Given the description of an element on the screen output the (x, y) to click on. 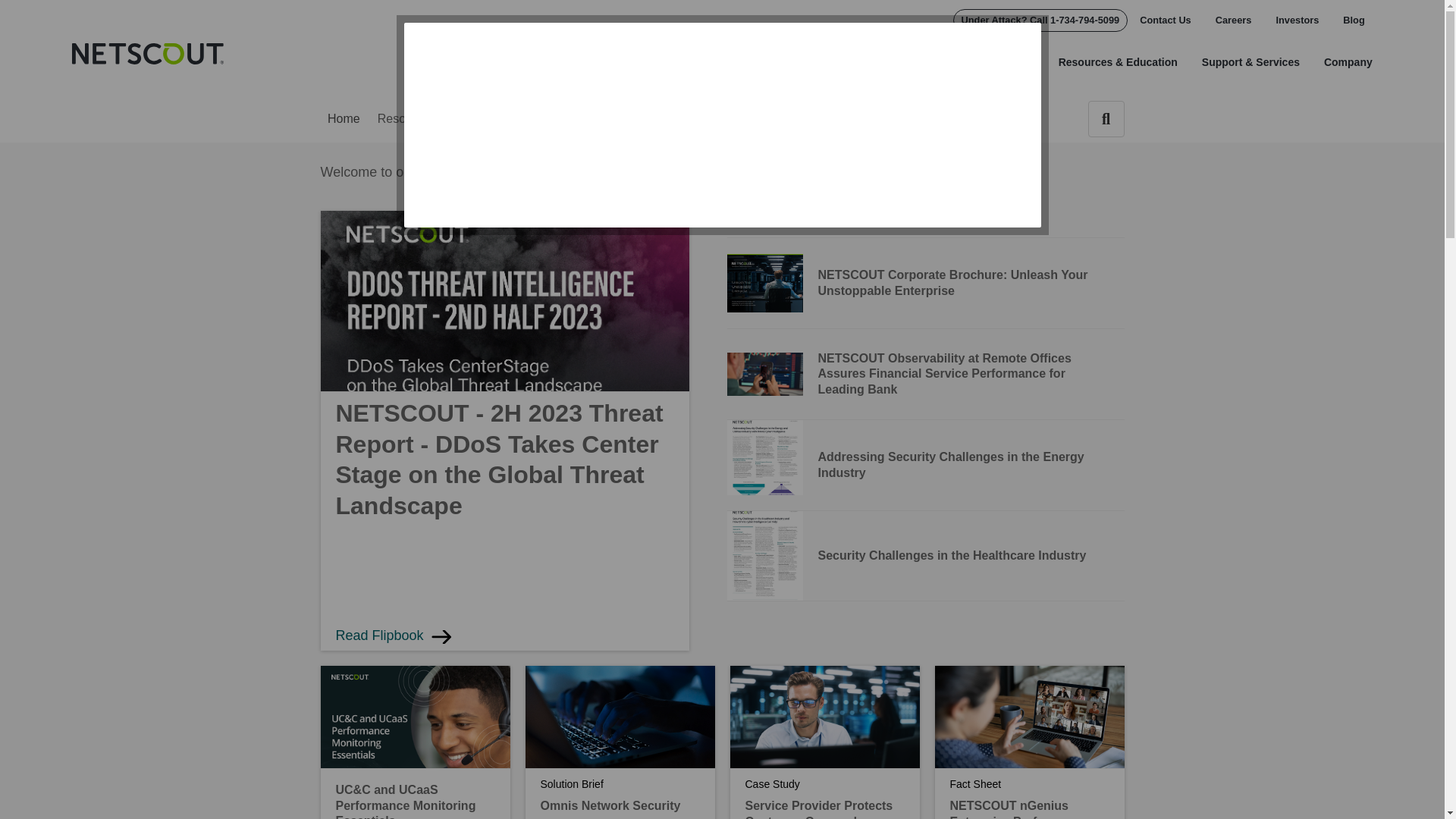
Careers (1233, 20)
Contact Us (1165, 20)
Investors (1296, 20)
Under Attack? Call 1-734-794-5099 (1040, 20)
Home (147, 53)
Blog (1347, 20)
